Given the description of an element on the screen output the (x, y) to click on. 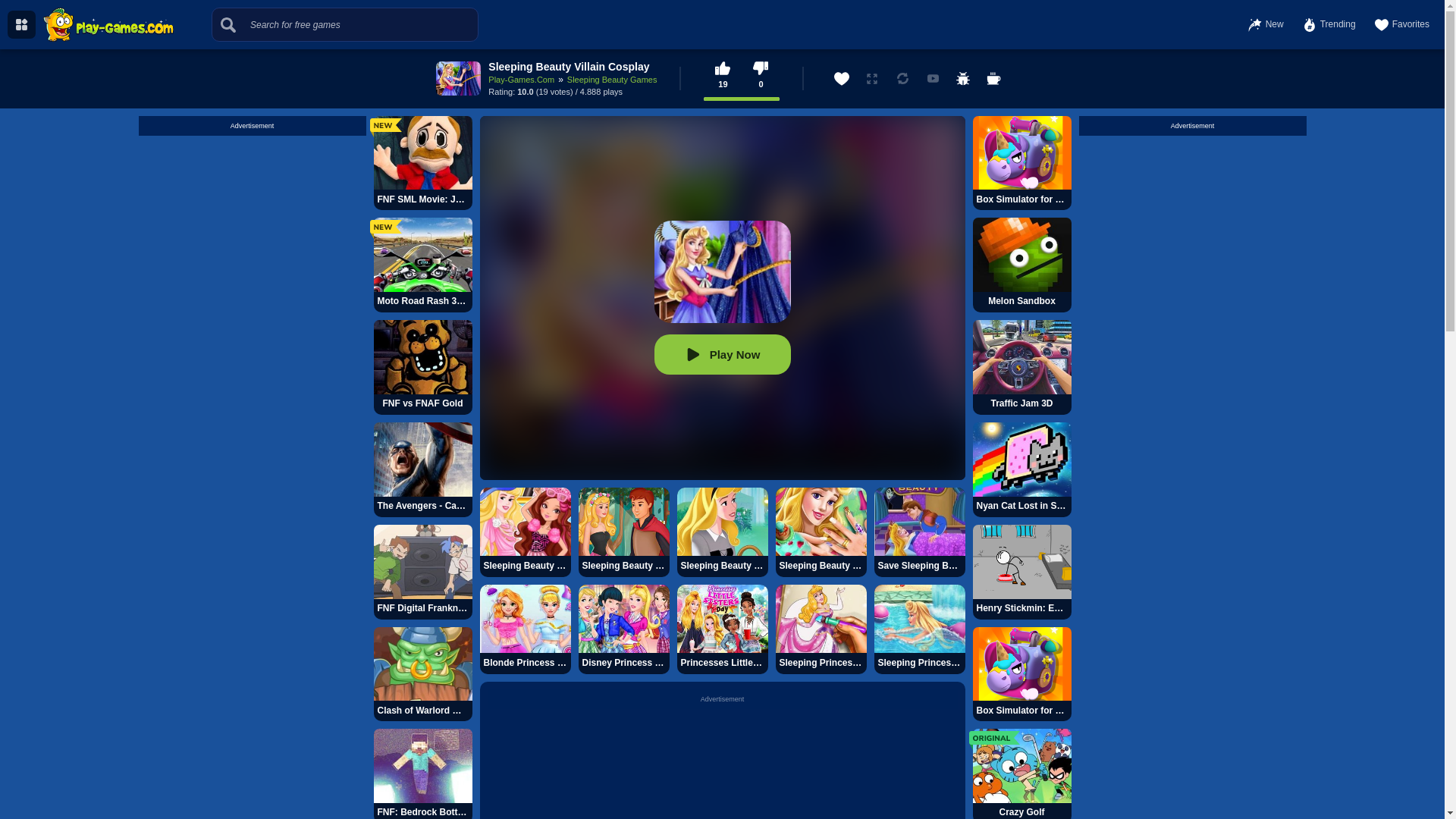
Sleeping Beauty Games (612, 79)
Play Games Online (108, 24)
Favorites (1402, 24)
New (1265, 24)
Show Game Library (20, 24)
Trending (1328, 24)
Play-Games.Com (520, 79)
